Given the description of an element on the screen output the (x, y) to click on. 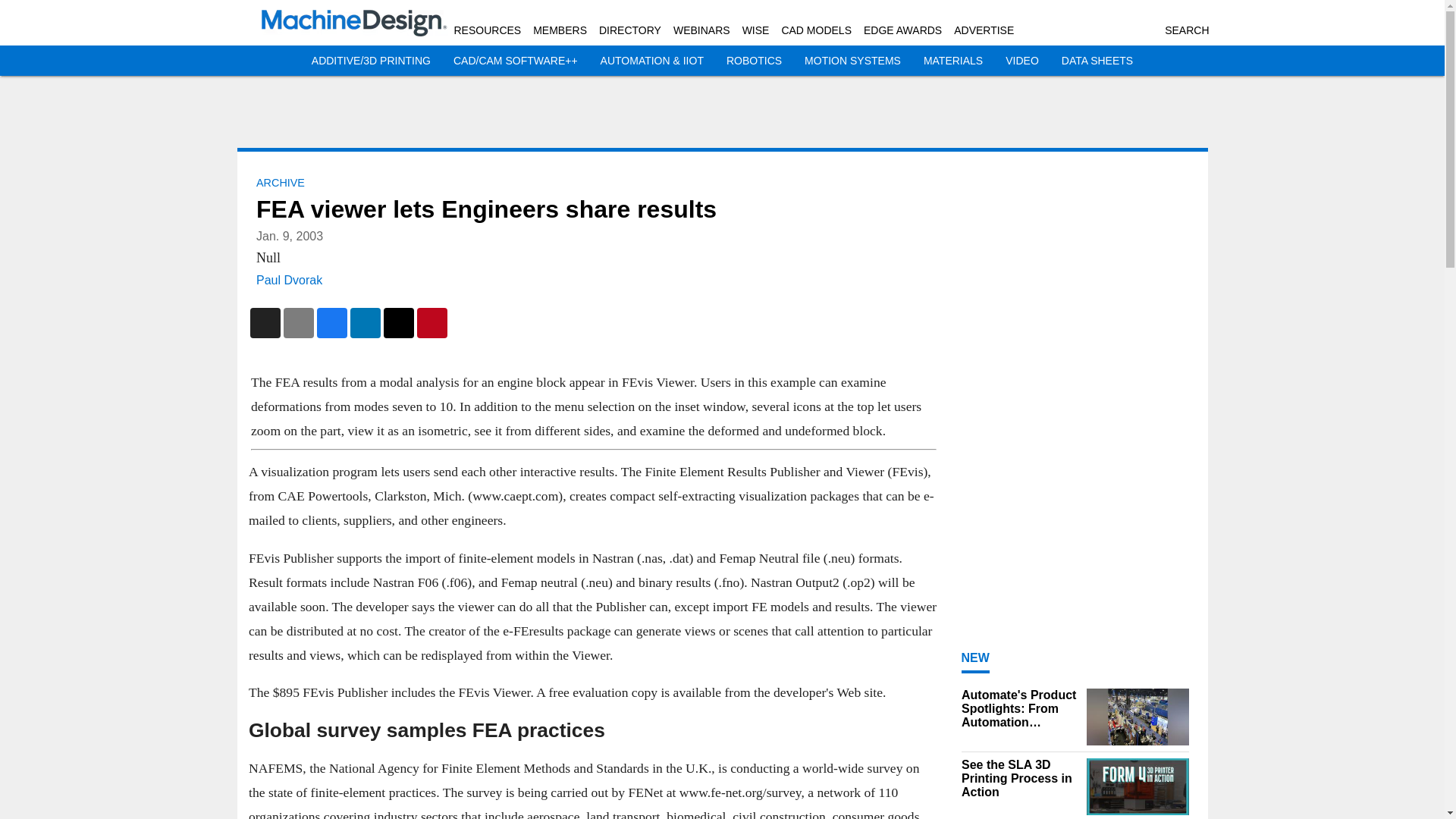
CAD MODELS (815, 30)
MOTION SYSTEMS (853, 60)
ARCHIVE (280, 182)
EDGE AWARDS (902, 30)
WISE (756, 30)
MATERIALS (952, 60)
VIDEO (1022, 60)
WEBINARS (701, 30)
SEARCH (1186, 30)
RESOURCES (486, 30)
DATA SHEETS (1096, 60)
MEMBERS (559, 30)
Paul Dvorak (288, 279)
DIRECTORY (629, 30)
ADVERTISE (983, 30)
